Given the description of an element on the screen output the (x, y) to click on. 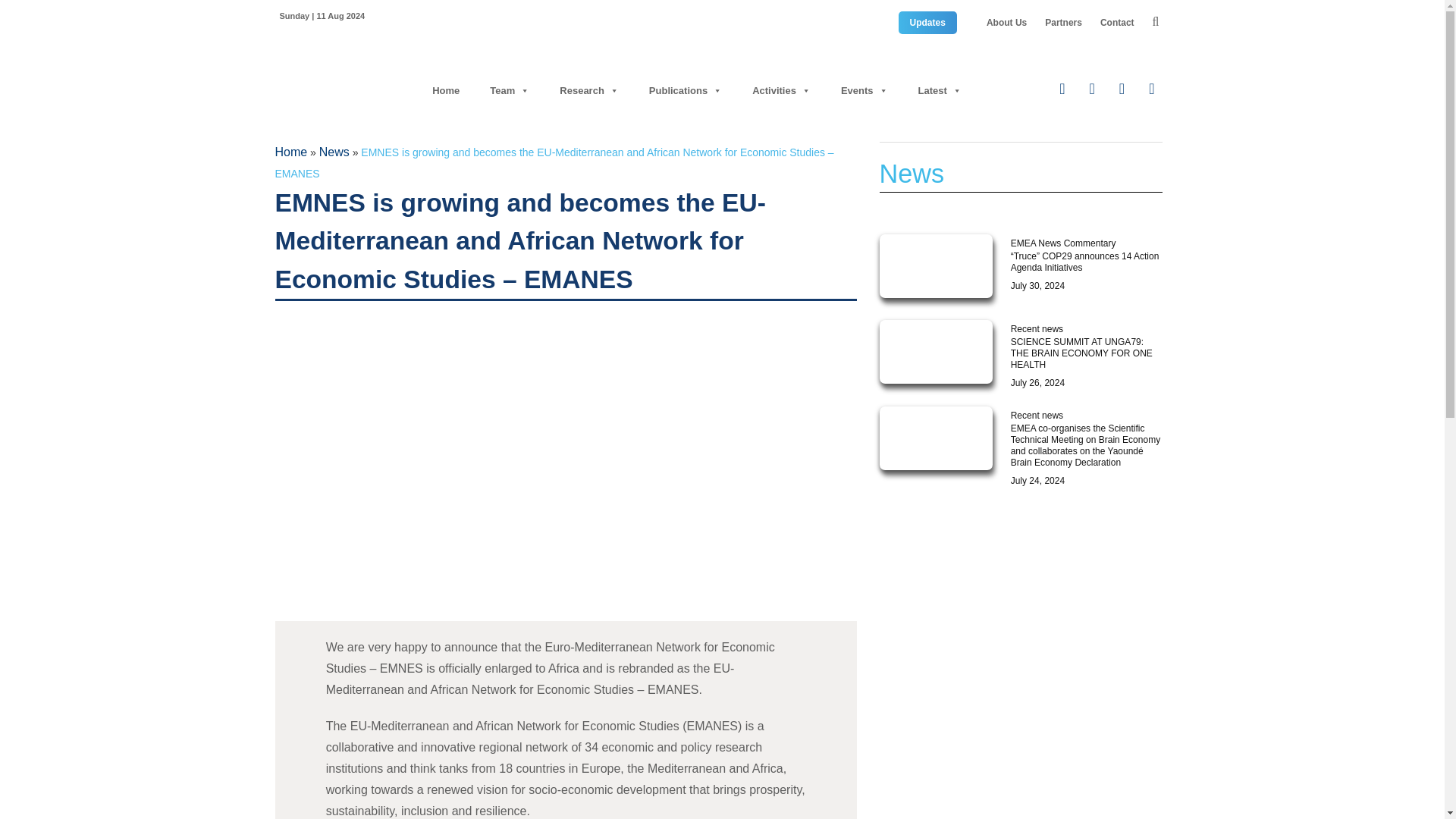
Team (509, 91)
Contact (1117, 22)
About Us (1006, 22)
Home (445, 91)
Updates (927, 22)
Research (588, 91)
Partners (1063, 22)
